Given the description of an element on the screen output the (x, y) to click on. 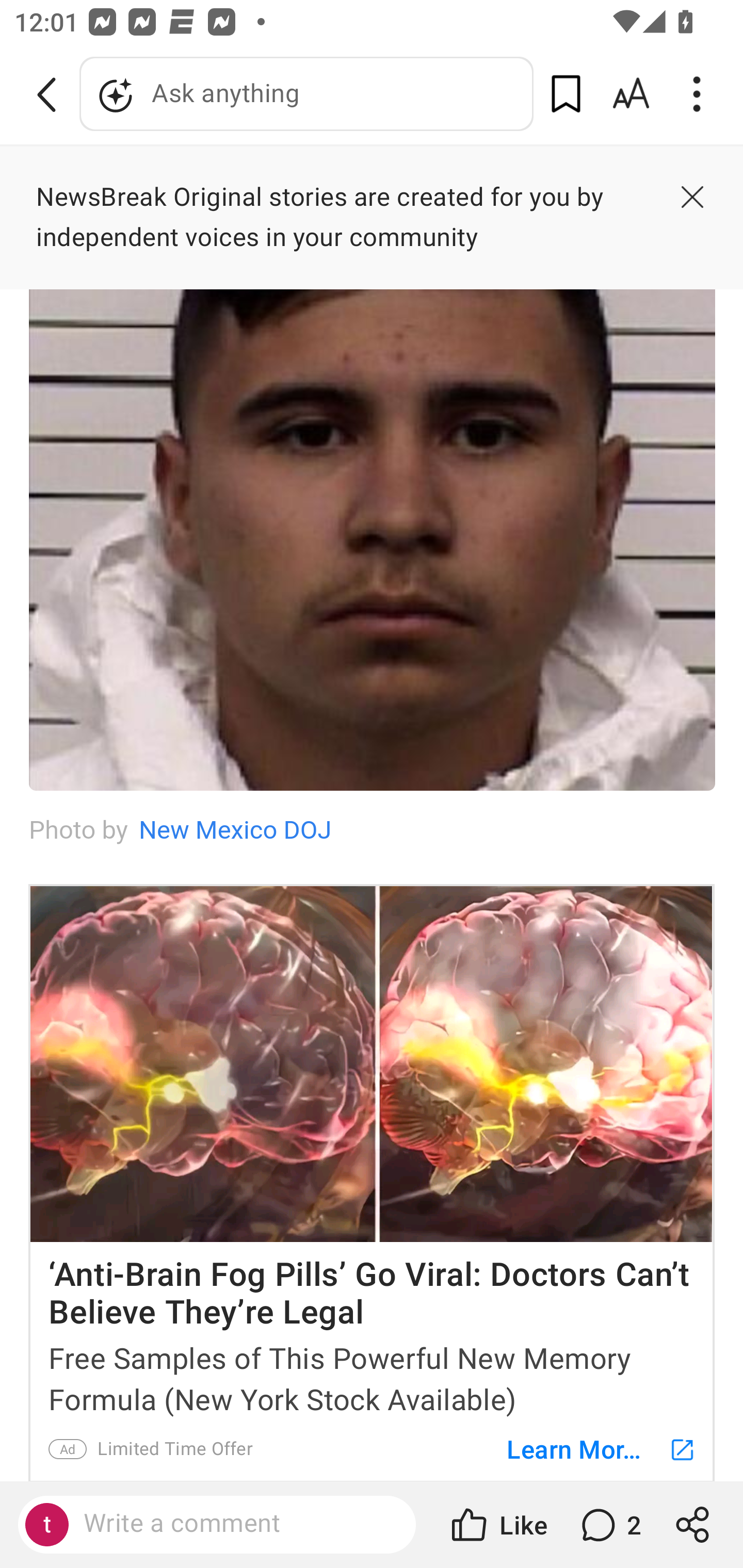
Ask anything (306, 93)
New Mexico DOJ (234, 829)
Learn More >> (591, 1448)
Limited Time Offer (174, 1448)
Like (497, 1524)
2 (608, 1524)
Write a comment (234, 1523)
